Given the description of an element on the screen output the (x, y) to click on. 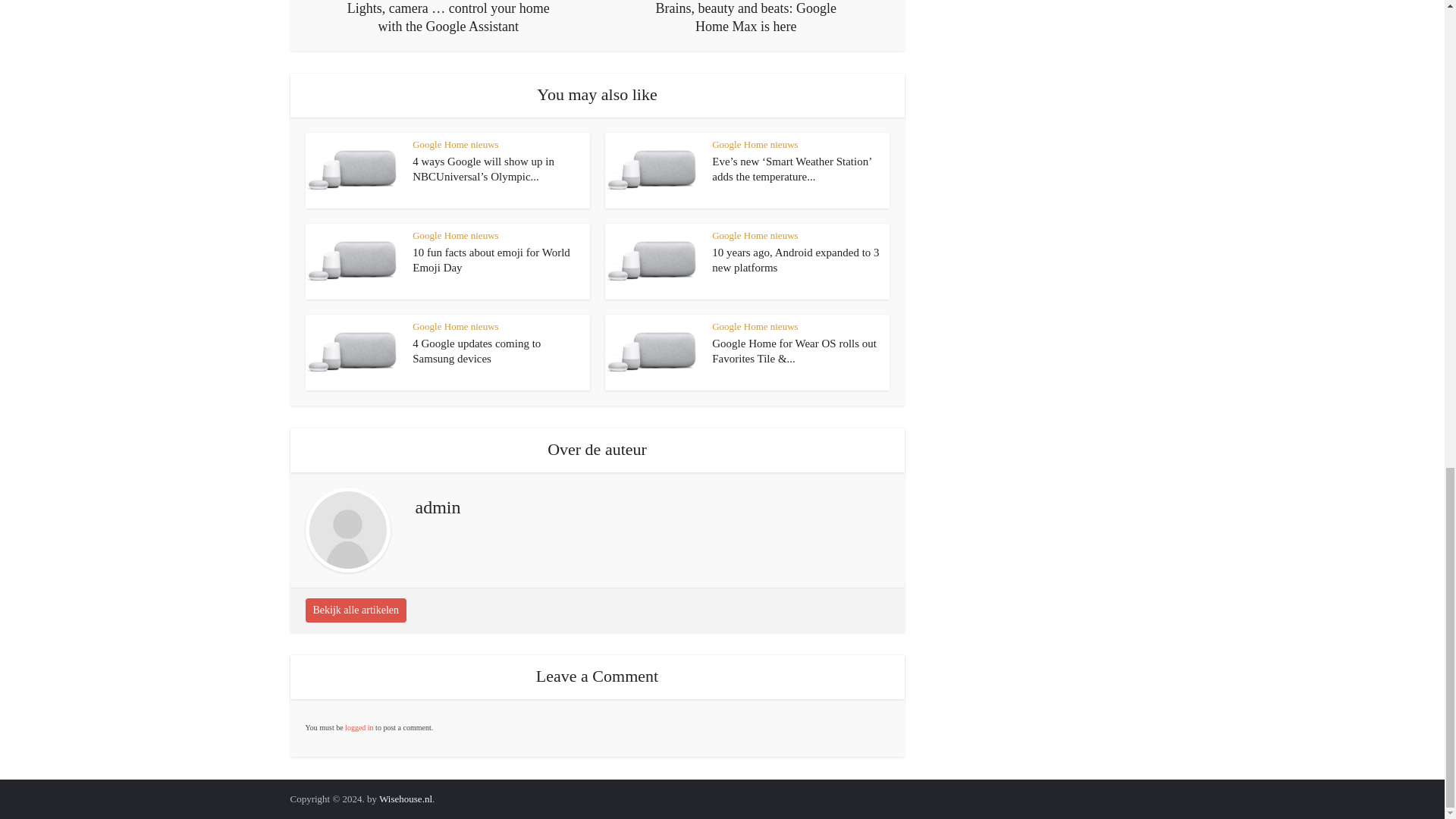
10 years ago, Android expanded to 3 new platforms (795, 259)
Google Home nieuws (454, 143)
4 Google updates coming to Samsung devices (476, 350)
Brains, beauty and beats: Google Home Max is here (746, 18)
10 fun facts about emoji for World Emoji Day (491, 259)
Google Home nieuws (754, 143)
